Given the description of an element on the screen output the (x, y) to click on. 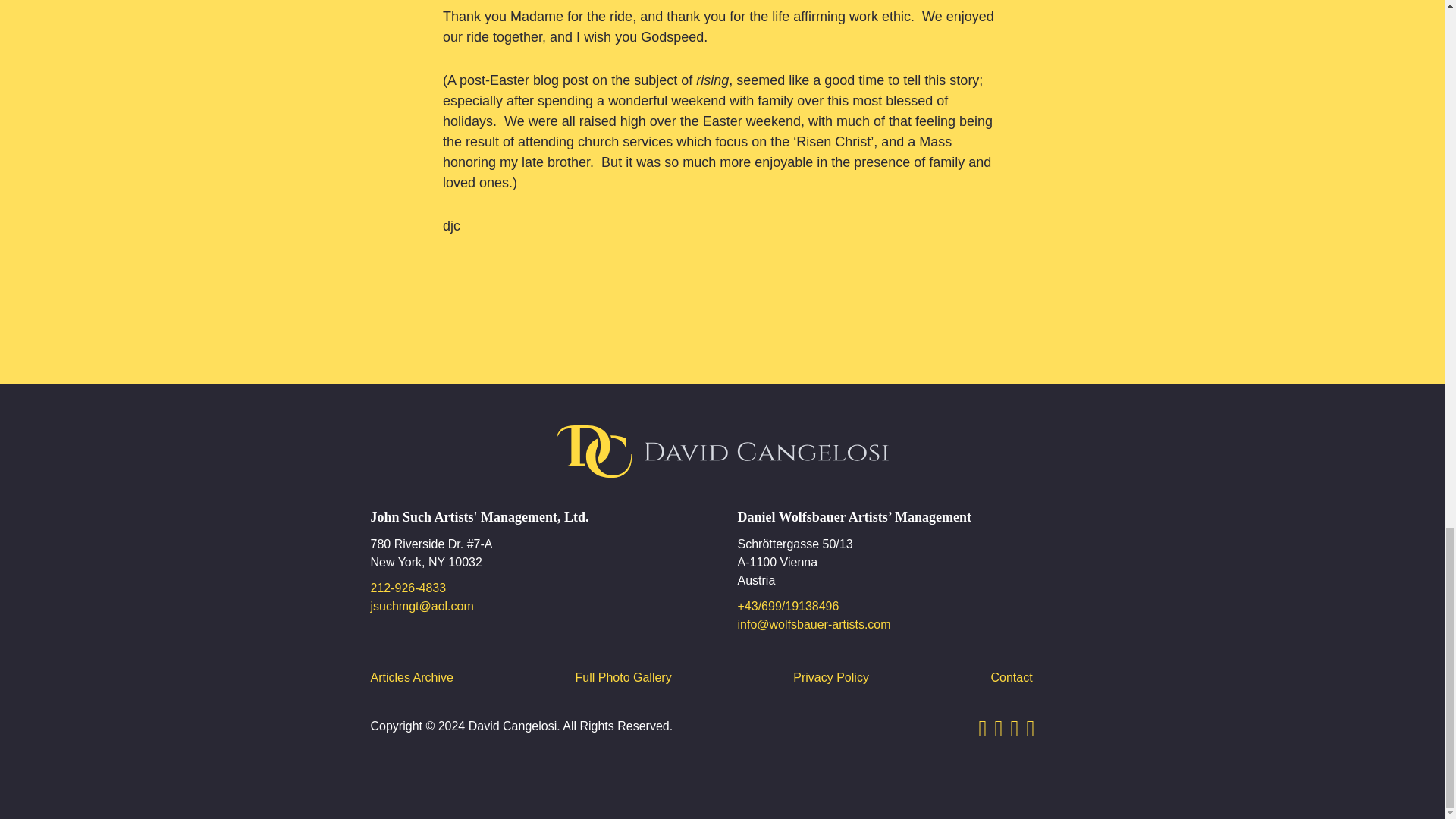
Full Photo Gallery (623, 677)
Contact (1011, 677)
212-926-4833 (537, 588)
Privacy Policy (831, 677)
Articles Archive (410, 677)
